Given the description of an element on the screen output the (x, y) to click on. 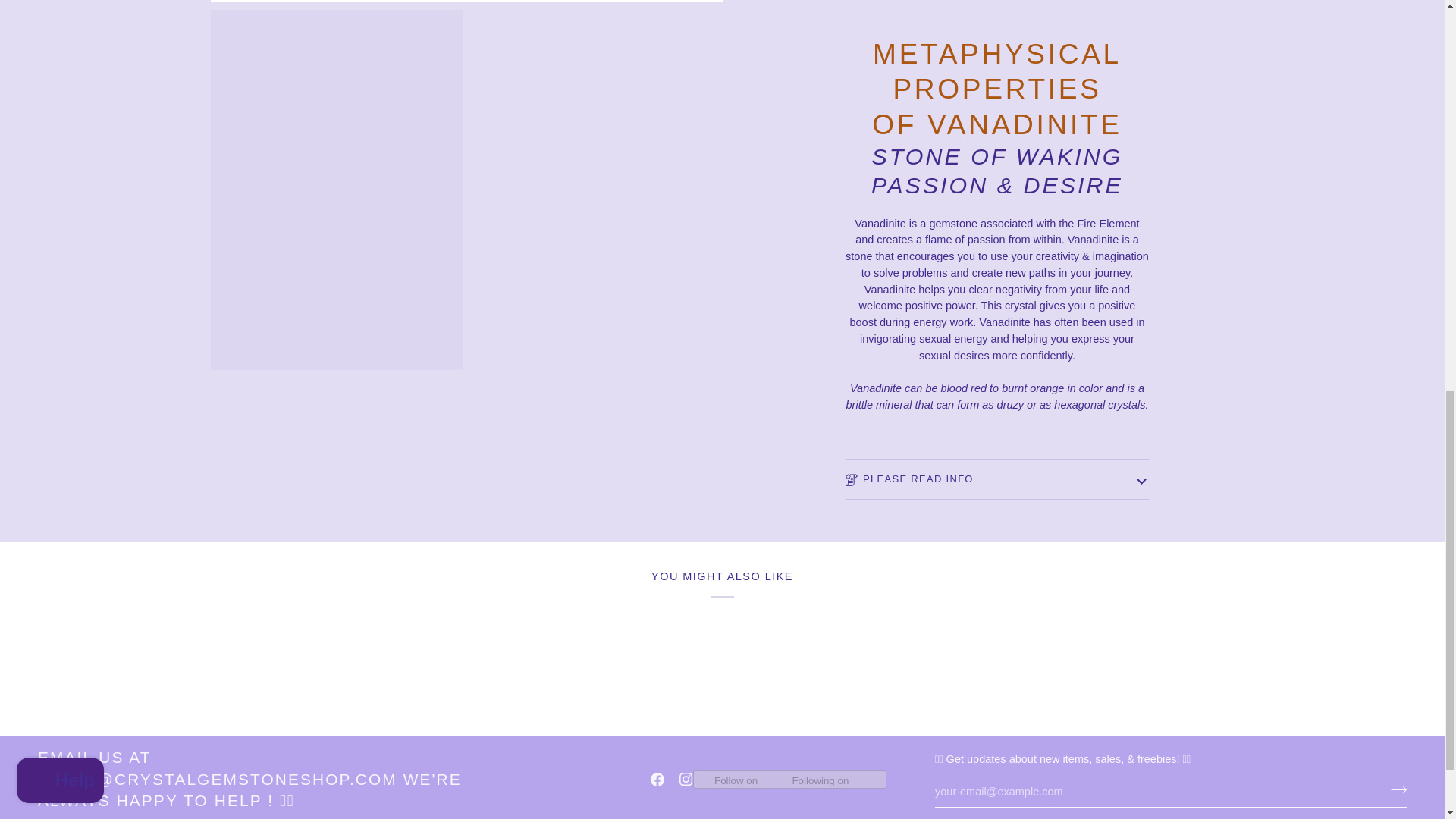
Instagram (686, 779)
Facebook (656, 779)
PLEASE READ INFO (996, 469)
